Given the description of an element on the screen output the (x, y) to click on. 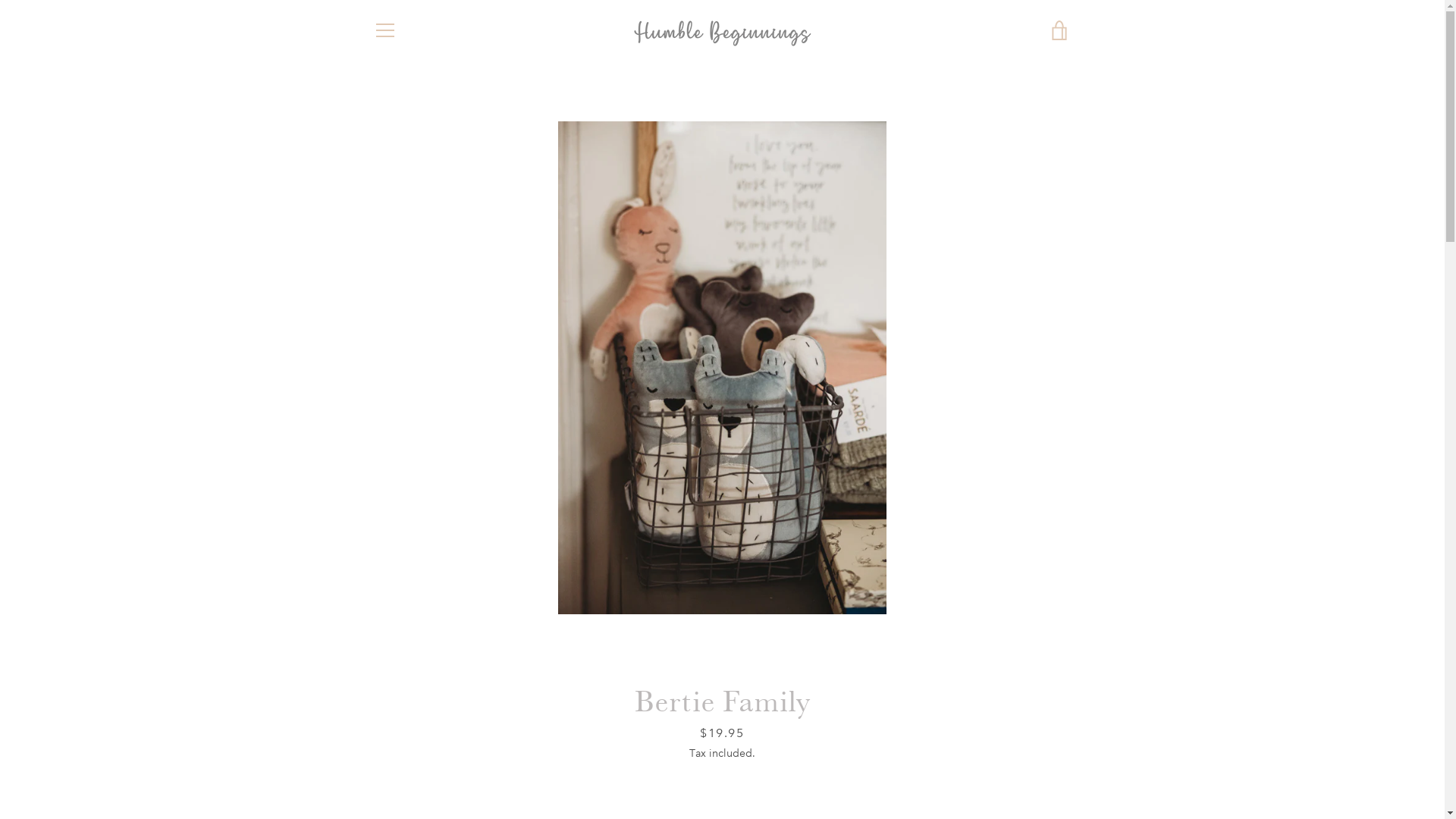
MENU Element type: text (384, 30)
VIEW CART Element type: text (1059, 30)
Skip to content Element type: text (0, 0)
